Given the description of an element on the screen output the (x, y) to click on. 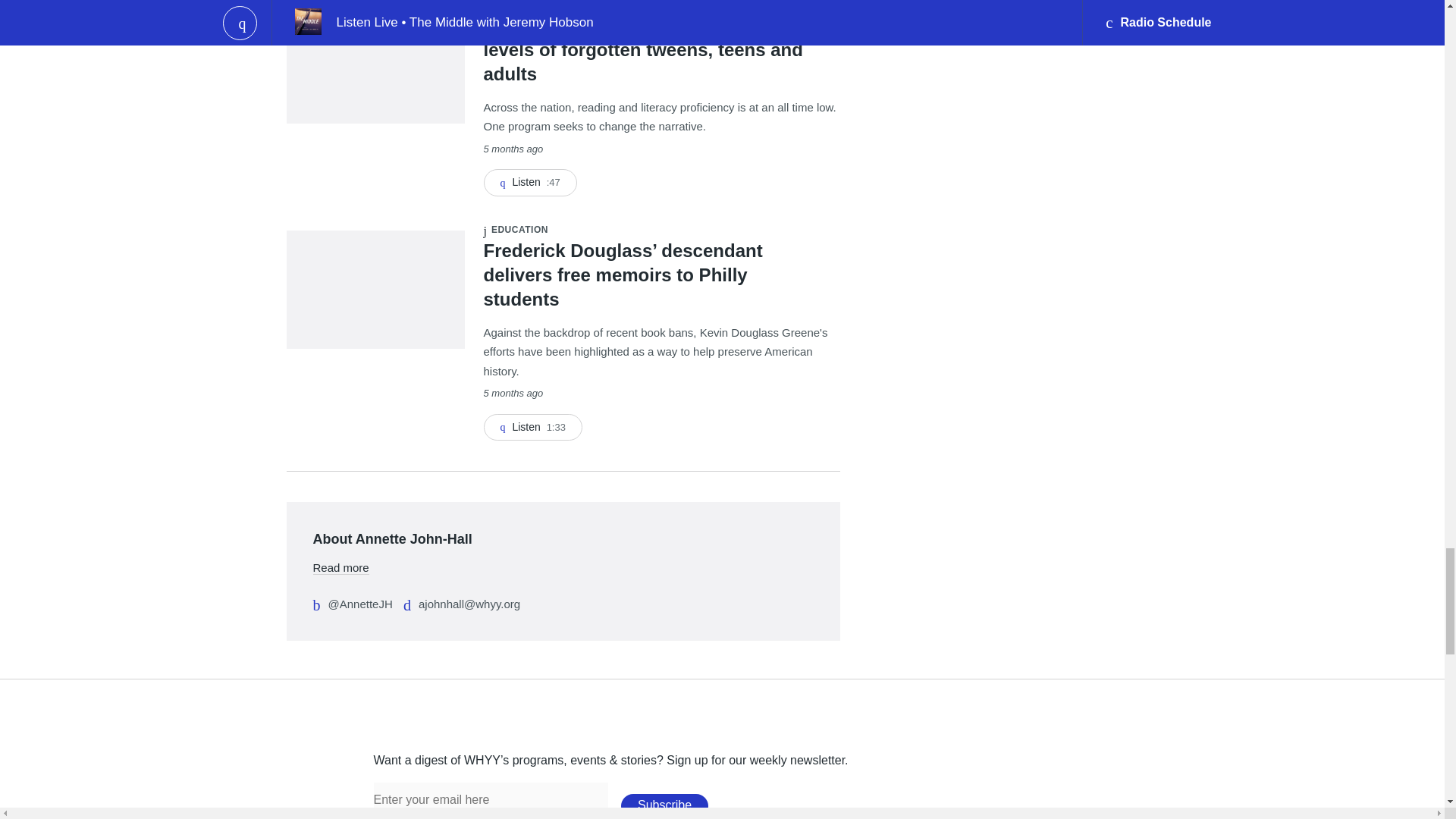
Subscribe (664, 805)
